Given the description of an element on the screen output the (x, y) to click on. 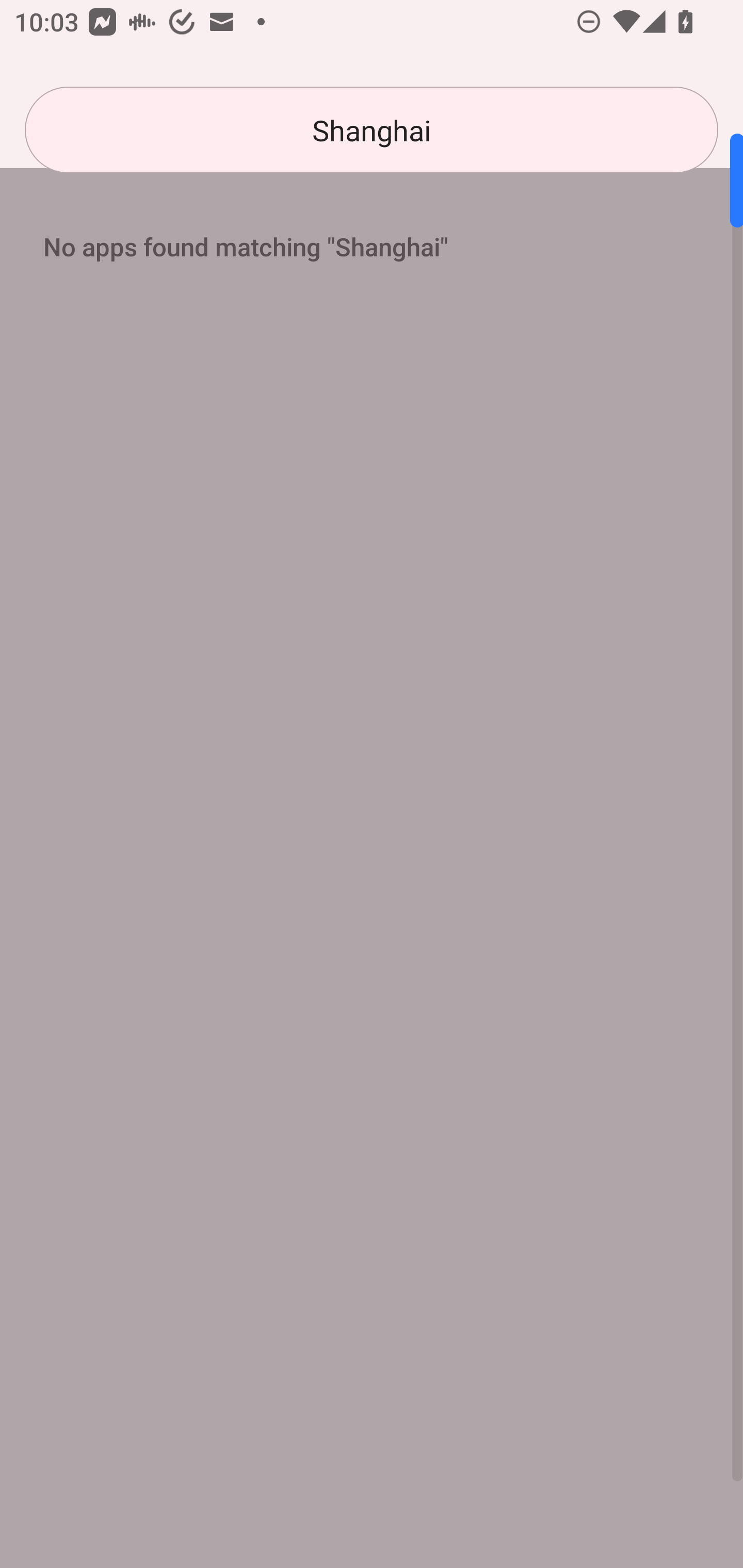
Shanghai (371, 130)
